Given the description of an element on the screen output the (x, y) to click on. 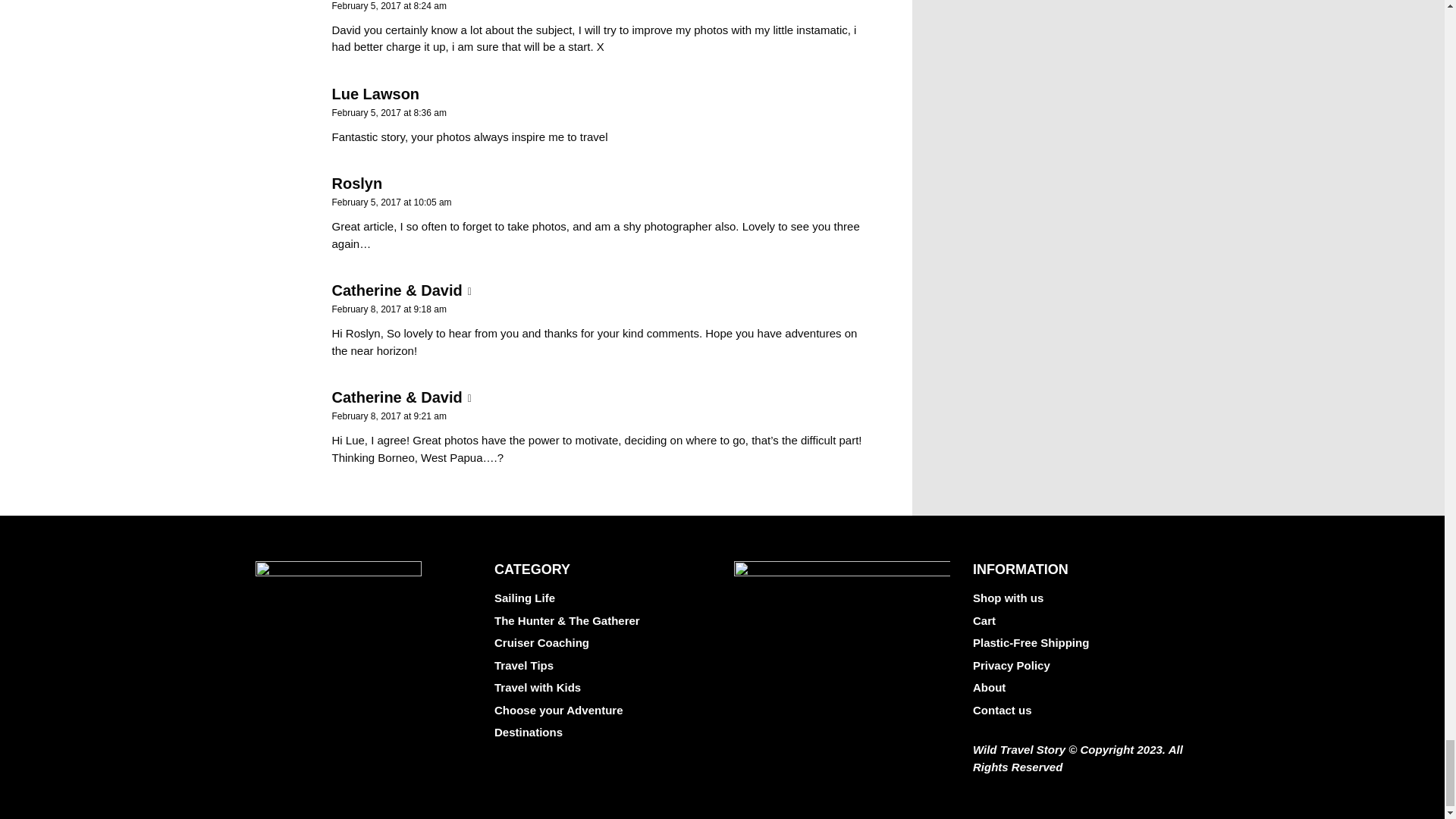
February 5, 2017 at 8:36 am (388, 112)
February 5, 2017 at 10:05 am (391, 202)
February 5, 2017 at 8:24 am (388, 5)
February 8, 2017 at 9:21 am (388, 416)
February 8, 2017 at 9:18 am (388, 308)
